Given the description of an element on the screen output the (x, y) to click on. 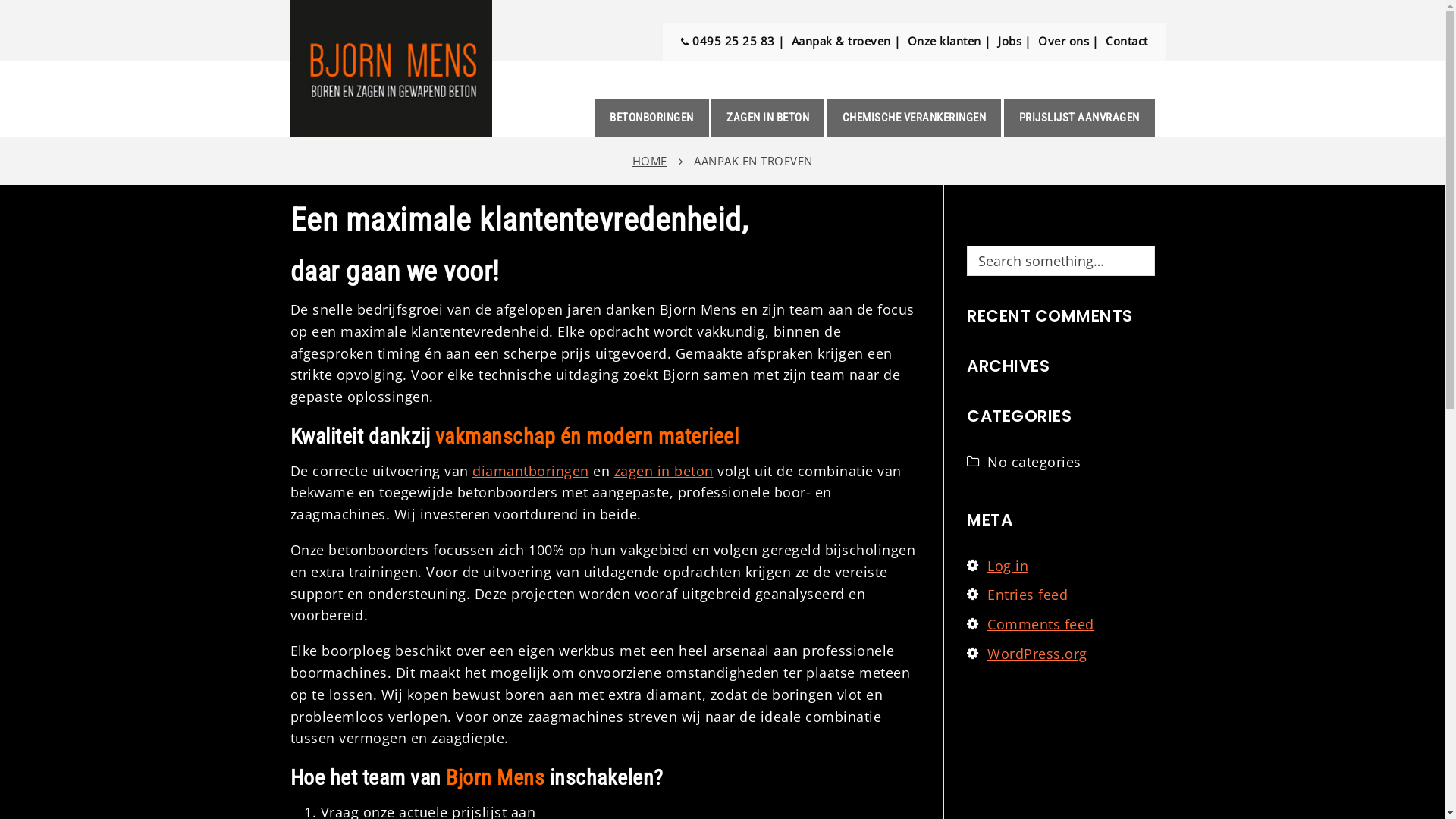
WordPress.org Element type: text (1037, 653)
CHEMISCHE VERANKERINGEN Element type: text (913, 117)
diamantboringen Element type: text (530, 470)
ZAGEN IN BETON Element type: text (767, 117)
Entries feed Element type: text (1027, 594)
Log in Element type: text (1007, 565)
Jobs Element type: text (1009, 41)
HOME Element type: text (649, 160)
PRIJSLIJST AANVRAGEN Element type: text (1079, 117)
0495 25 25 83 Element type: text (727, 41)
Search Element type: text (1138, 260)
Over ons Element type: text (1063, 41)
zagen in beton Element type: text (663, 470)
Comments feed Element type: text (1040, 624)
Contact Element type: text (1126, 41)
Onze klanten Element type: text (944, 41)
BETONBORINGEN Element type: text (651, 117)
Aanpak & troeven Element type: text (840, 41)
